Given the description of an element on the screen output the (x, y) to click on. 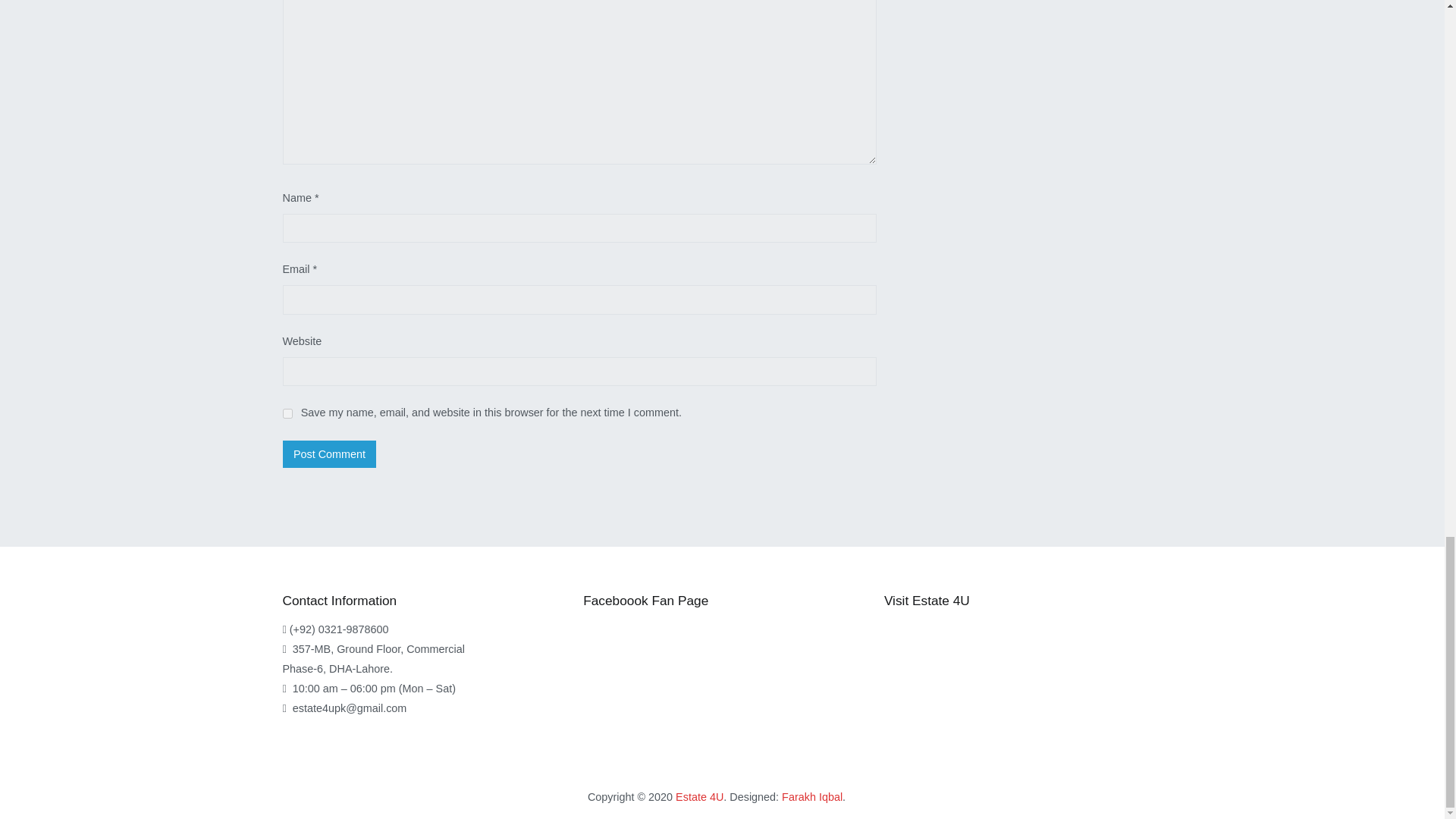
Estate 4U (699, 797)
yes (287, 413)
Post Comment (328, 453)
Estate 4U (699, 797)
Post Comment (328, 453)
Farakh Iqbal (812, 797)
